Given the description of an element on the screen output the (x, y) to click on. 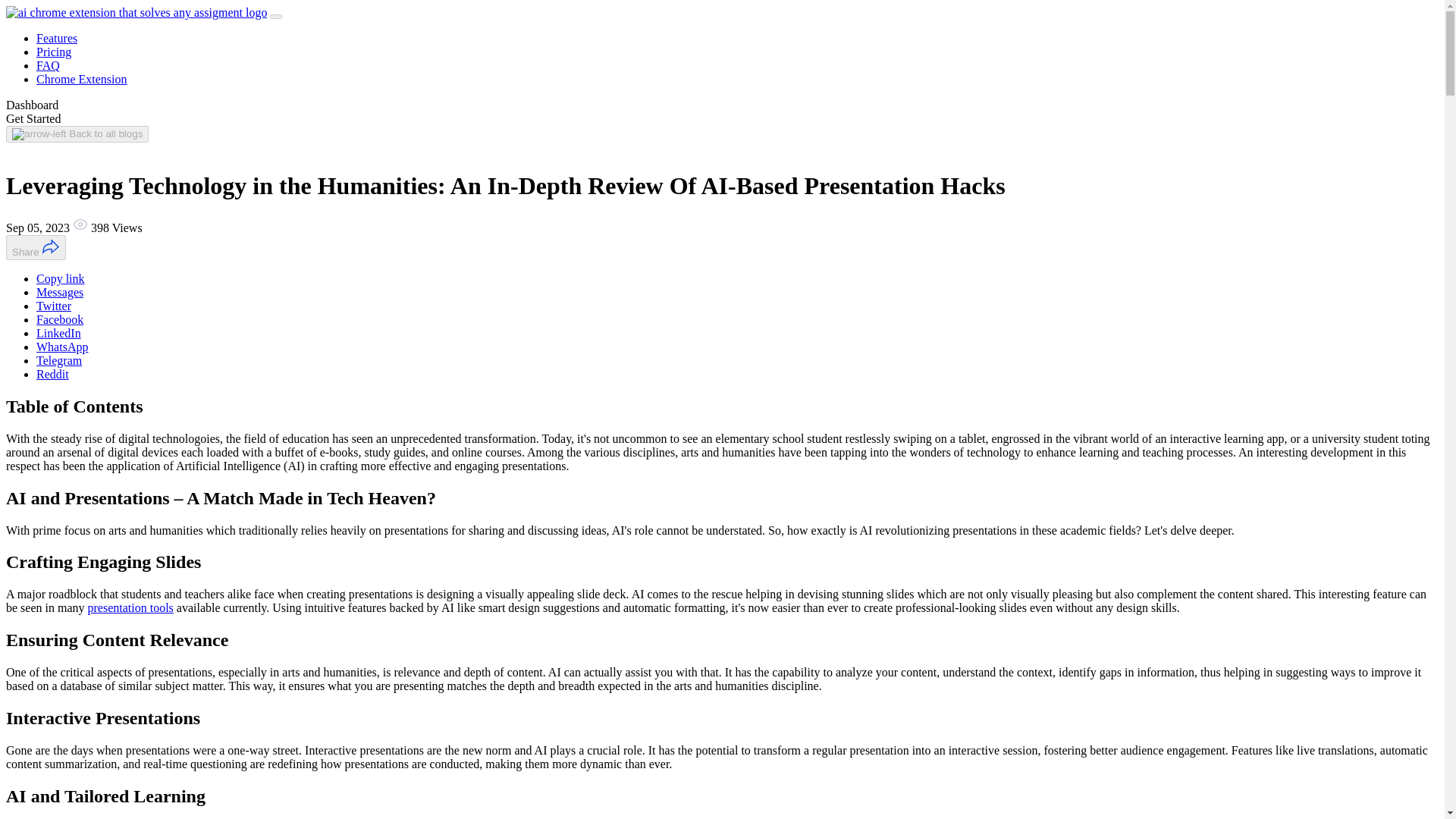
Twitter (53, 305)
Messages (59, 291)
Pricing (53, 51)
Get Started (33, 118)
Copy link (60, 278)
LinkedIn (58, 332)
Reddit (52, 373)
Features (56, 38)
WhatsApp (61, 346)
Share (35, 247)
